Given the description of an element on the screen output the (x, y) to click on. 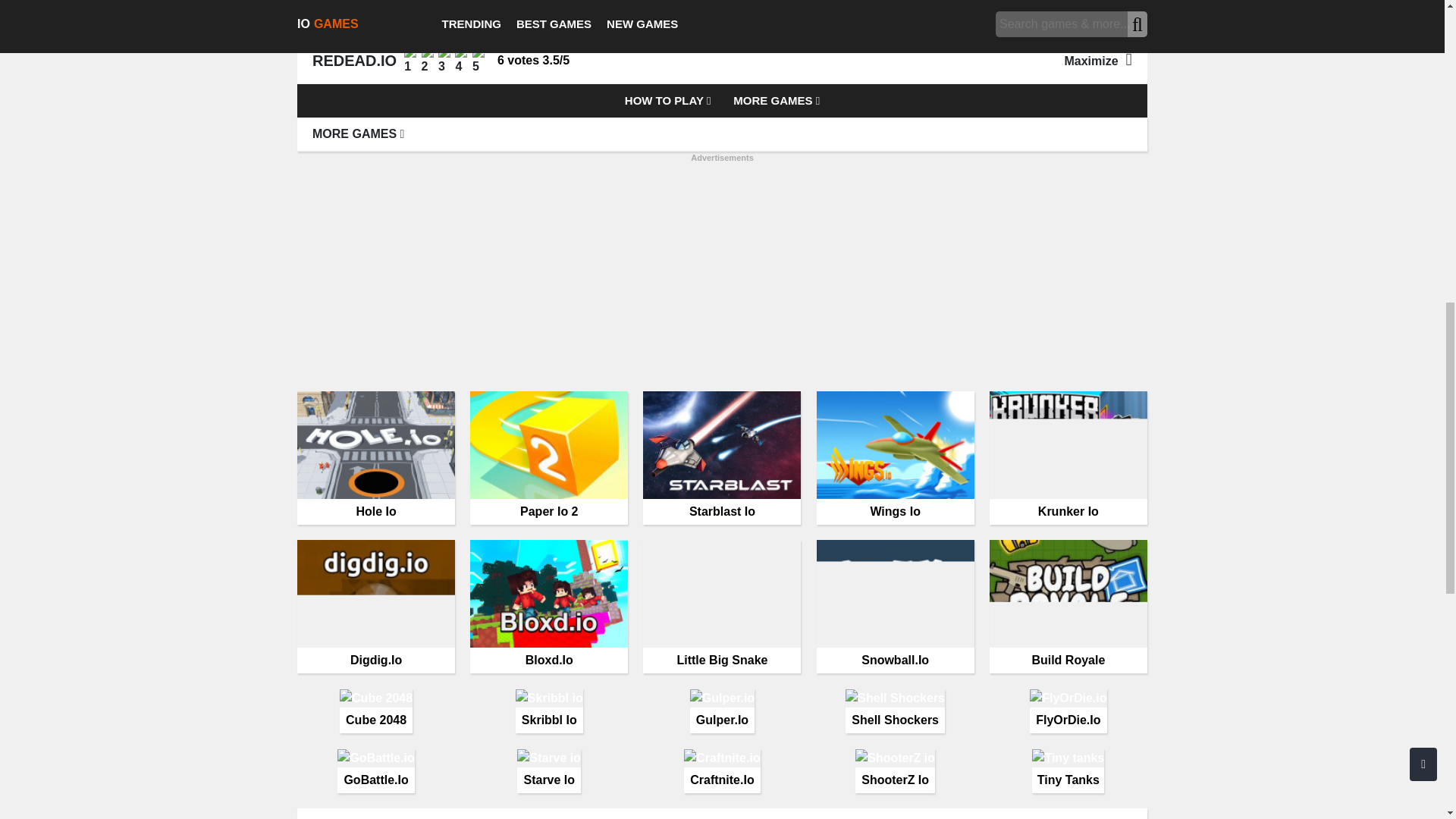
GoBattle.Io (375, 770)
reDEAD.io (722, 11)
FlyOrDie.Io (1068, 710)
Bloxd.Io (548, 606)
Shell Shockers (895, 710)
Digdig.Io (375, 606)
Starve Io (548, 770)
ShooterZ Io (895, 770)
Little Big Snake (721, 606)
Wings Io (895, 457)
Skribbl Io (548, 710)
Krunker Io (1068, 457)
Build Royale (1068, 606)
Gulper.Io (721, 710)
Snowball.Io (895, 606)
